Given the description of an element on the screen output the (x, y) to click on. 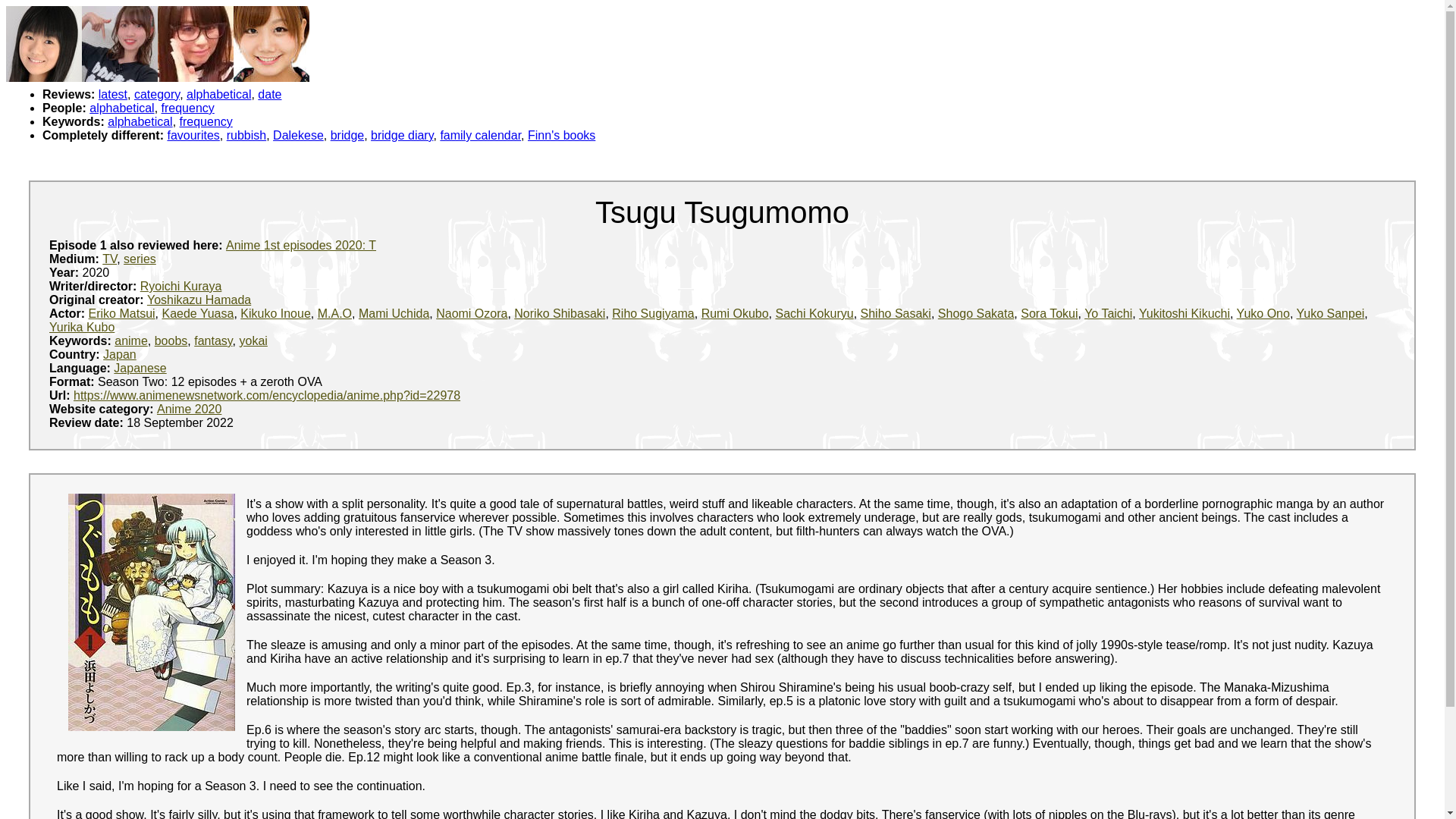
Eriko Matsui (121, 313)
anime (131, 340)
Yukitoshi Kikuchi (1184, 313)
Yuko Sanpei (1331, 313)
Yuko Ono (1263, 313)
series (139, 258)
M.A.O (334, 313)
Yurika Kubo (82, 327)
Shogo Sakata (975, 313)
Yoshikazu Hamada (198, 299)
